Given the description of an element on the screen output the (x, y) to click on. 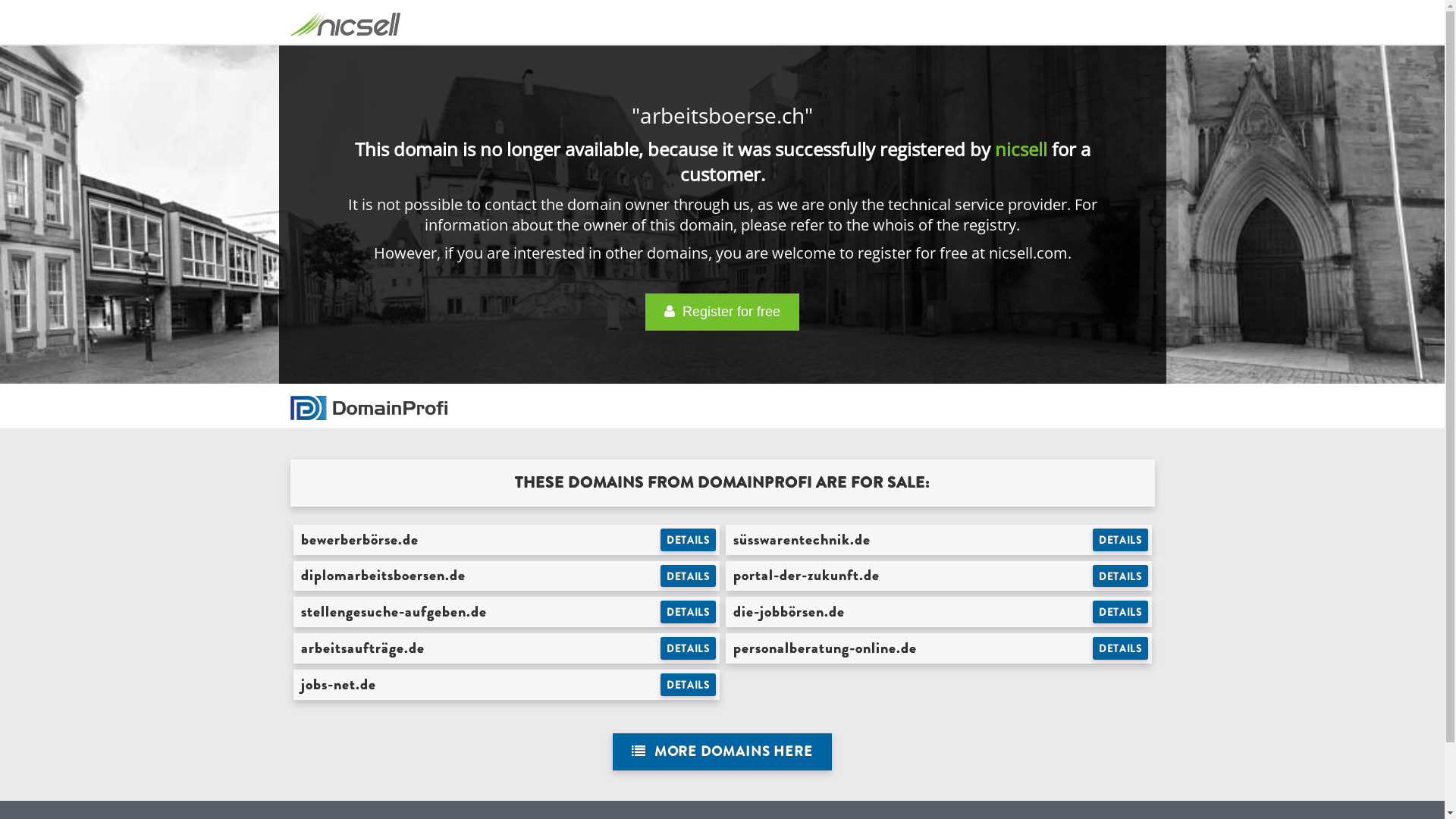
  Register for free Element type: text (722, 311)
DETAILS Element type: text (1120, 648)
DETAILS Element type: text (687, 648)
DETAILS Element type: text (1120, 575)
  MORE DOMAINS HERE Element type: text (722, 751)
DETAILS Element type: text (687, 539)
DETAILS Element type: text (1120, 539)
nicsell Element type: text (1020, 148)
DETAILS Element type: text (687, 684)
DETAILS Element type: text (1120, 611)
DETAILS Element type: text (687, 611)
DETAILS Element type: text (687, 575)
